Given the description of an element on the screen output the (x, y) to click on. 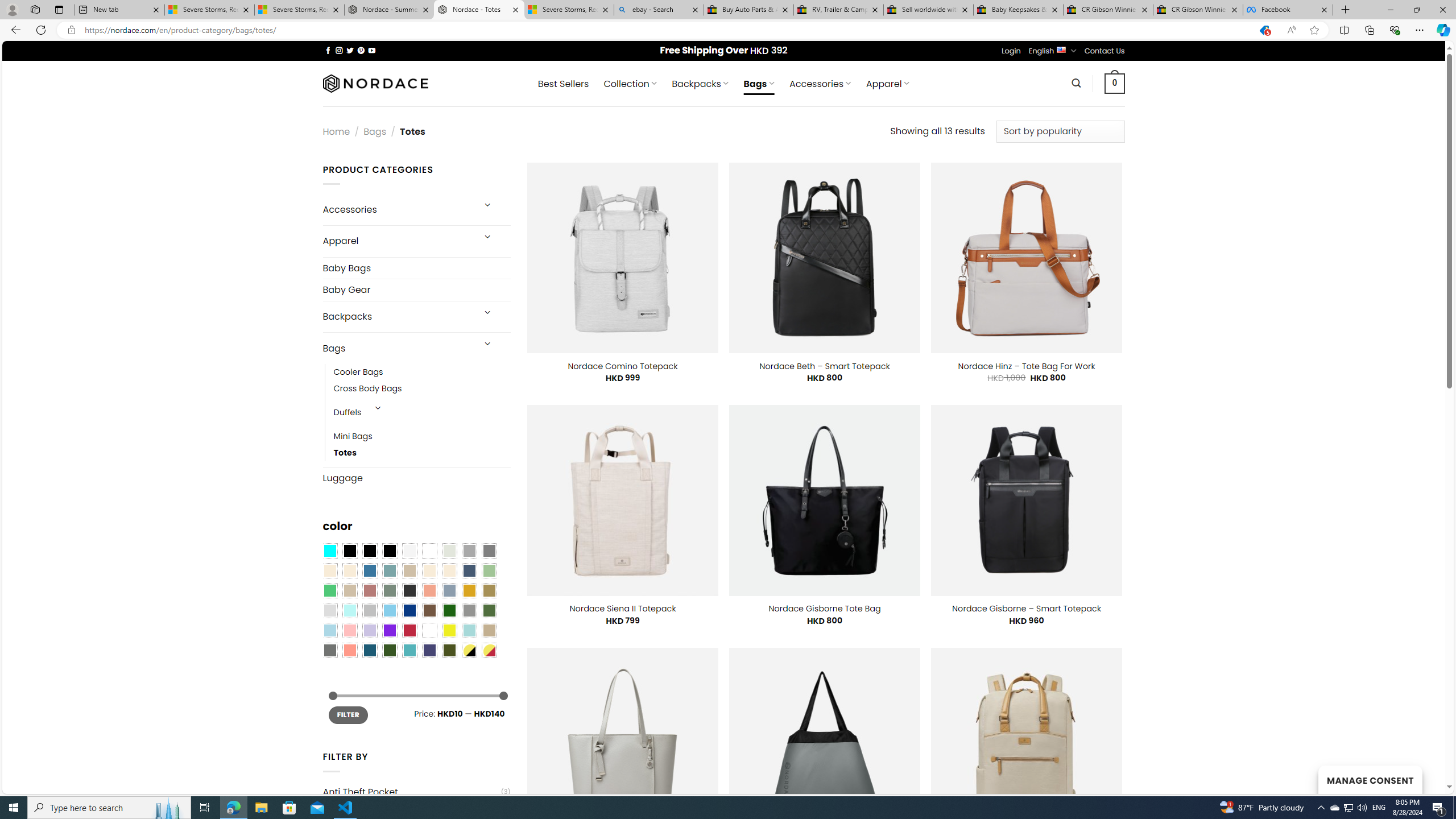
FILTER (347, 714)
Beige-Brown (349, 570)
All Gray (488, 550)
Luggage (416, 477)
Follow on YouTube (371, 49)
Yellow-Black (468, 649)
Blue Sage (389, 570)
Light Green (488, 570)
Baby Gear (416, 289)
Pink (349, 630)
Sky Blue (389, 610)
